Given the description of an element on the screen output the (x, y) to click on. 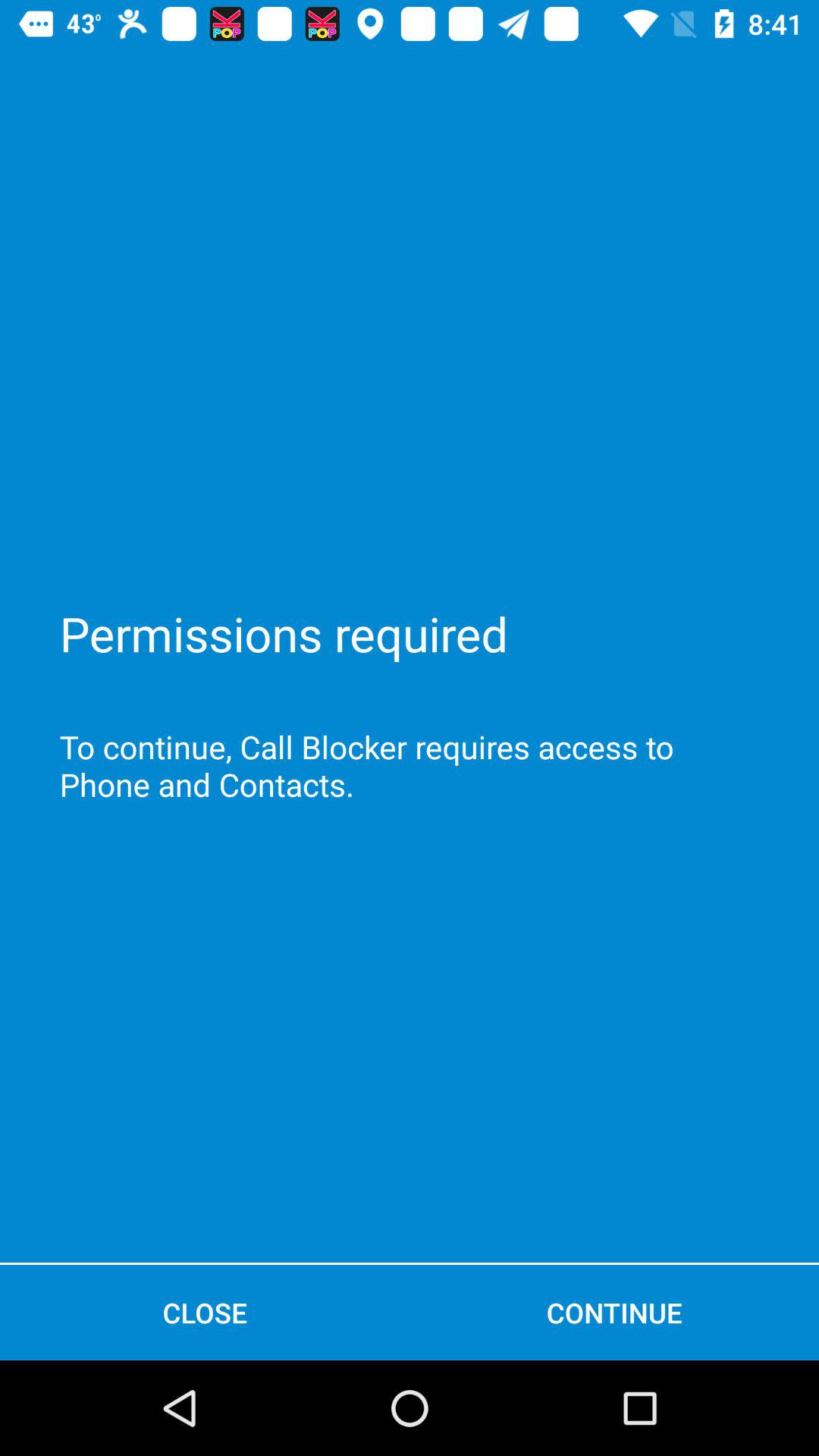
press the close at the bottom left corner (204, 1312)
